Given the description of an element on the screen output the (x, y) to click on. 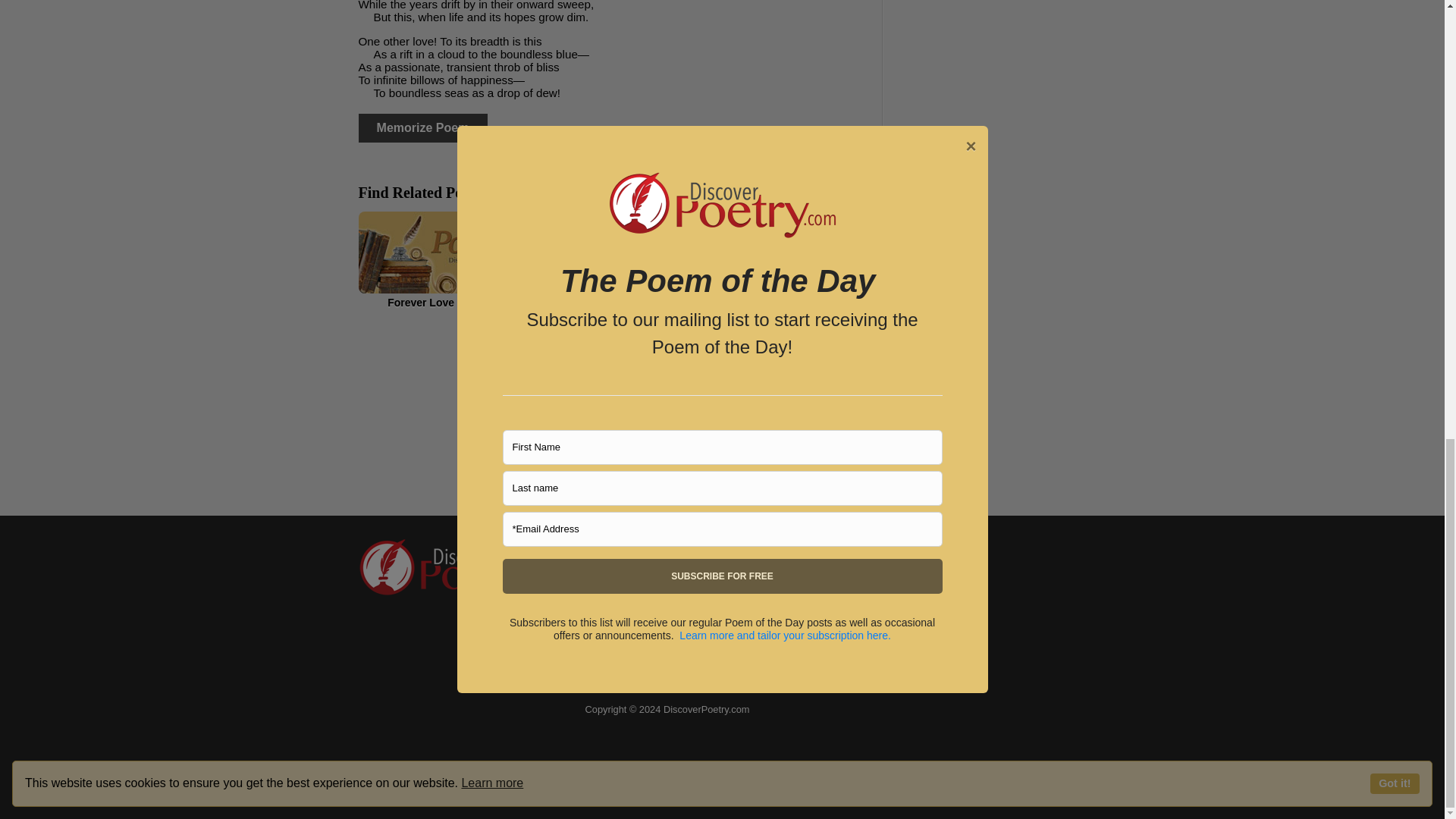
Contact Us (617, 574)
Forever Love Poems (439, 259)
Poems About Love (785, 259)
Love Poems (613, 259)
